Given the description of an element on the screen output the (x, y) to click on. 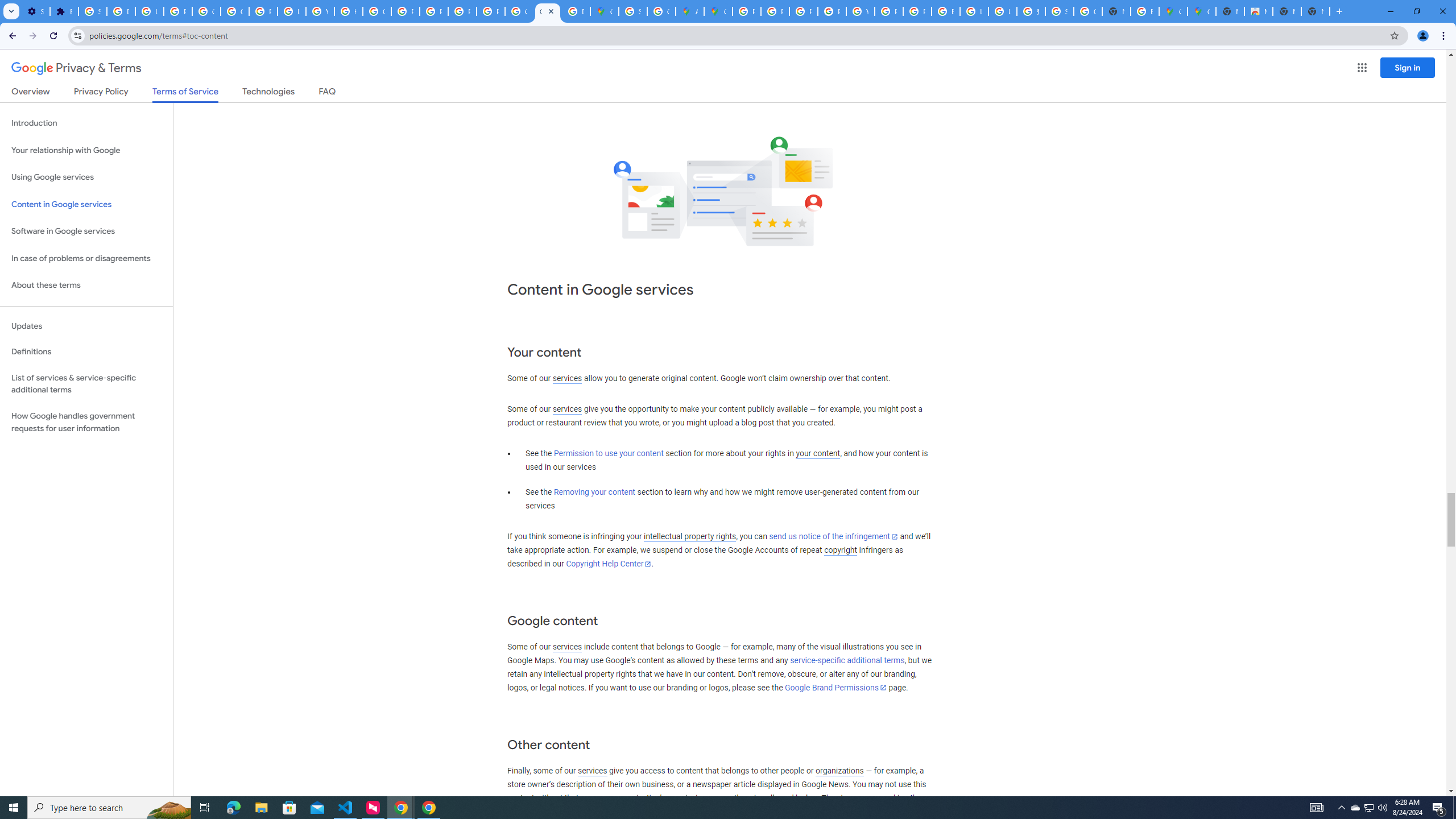
Privacy Policy (100, 93)
Explore new street-level details - Google Maps Help (1144, 11)
Policy Accountability and Transparency - Transparency Center (746, 11)
copyright (840, 550)
send us notice of the infringement (833, 536)
your content (817, 453)
Google Brand Permissions (835, 687)
services (591, 770)
